Given the description of an element on the screen output the (x, y) to click on. 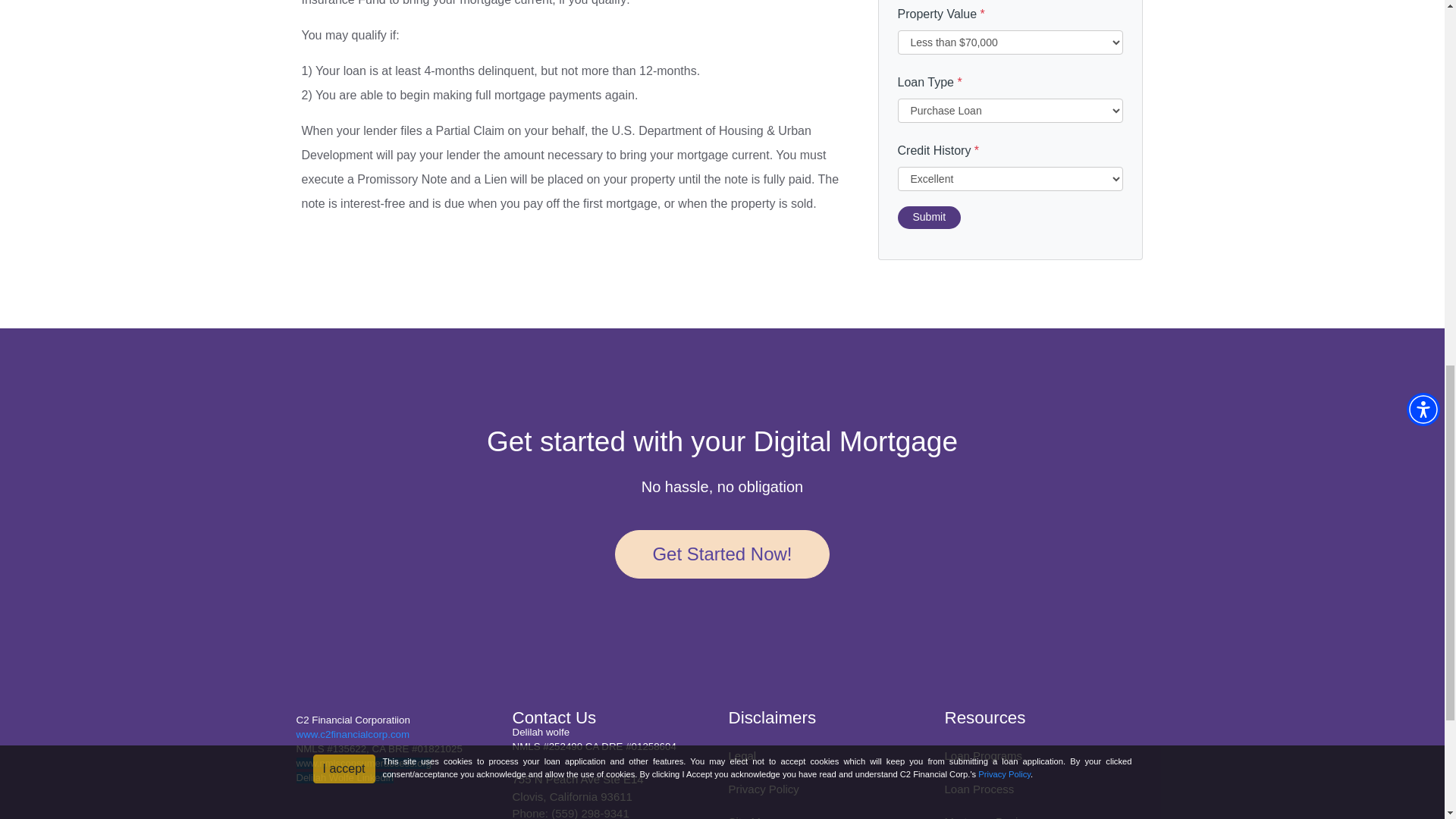
www.nmlsconsumeraccess.org (362, 763)
Submit (929, 217)
Legal (741, 755)
Loan Process (979, 788)
www.c2financialcorp.com (352, 734)
Get Started Now! (721, 553)
Delilah Wolfe Linkedin (344, 777)
Loan Programs (983, 755)
Mortgage Basics (986, 816)
Privacy Policy (762, 788)
Site Map (750, 816)
